Given the description of an element on the screen output the (x, y) to click on. 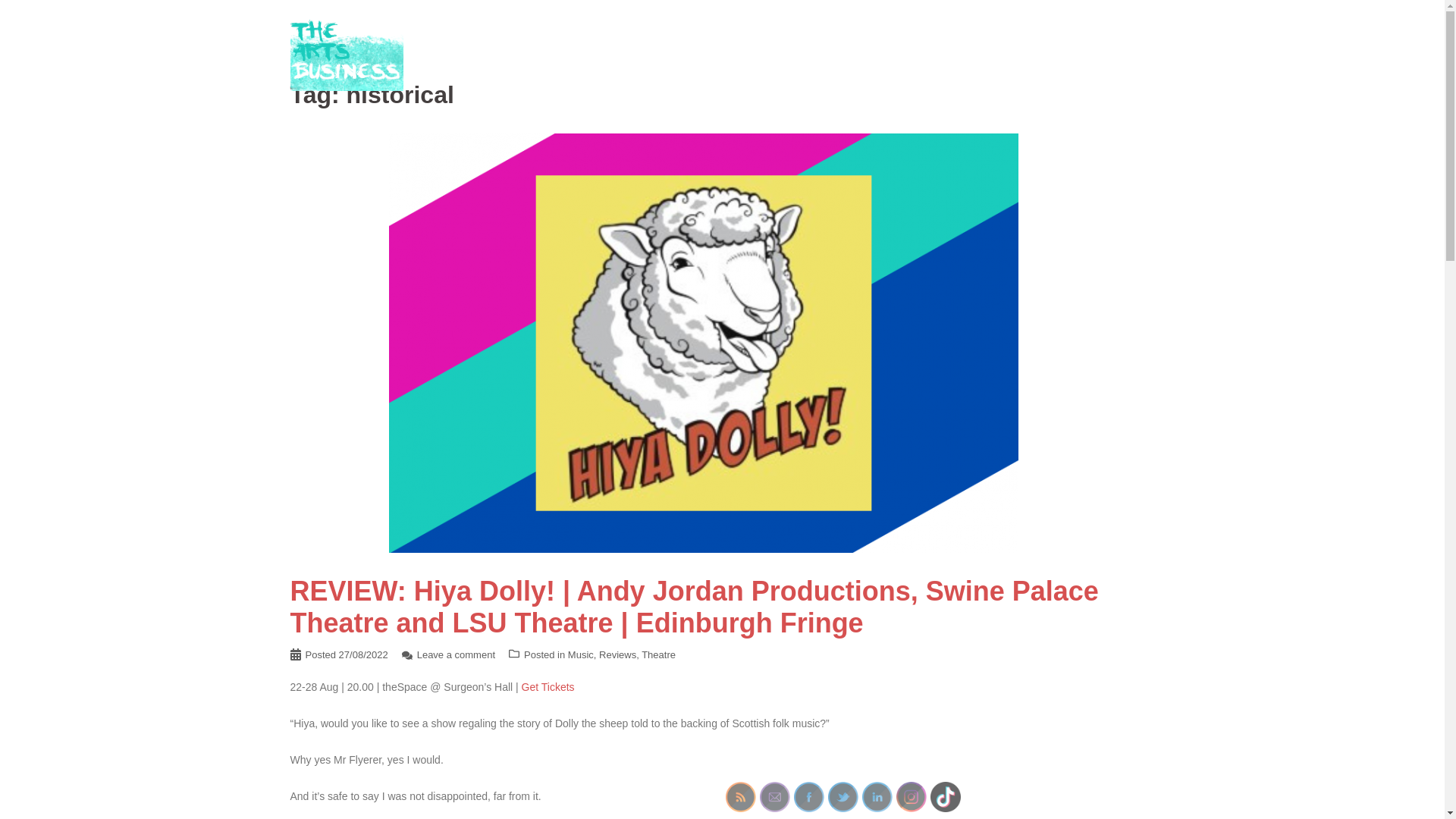
Reviews (617, 654)
RSS (740, 797)
Instagram (911, 797)
The Arts Business (346, 51)
Theatre (658, 654)
Leave a comment (455, 654)
Facebook (808, 797)
Blog (812, 53)
Contact Us (1116, 53)
Podcast (1051, 53)
About Us (866, 53)
Music (580, 654)
Get Tickets (548, 686)
Follow by Email (775, 797)
